Given the description of an element on the screen output the (x, y) to click on. 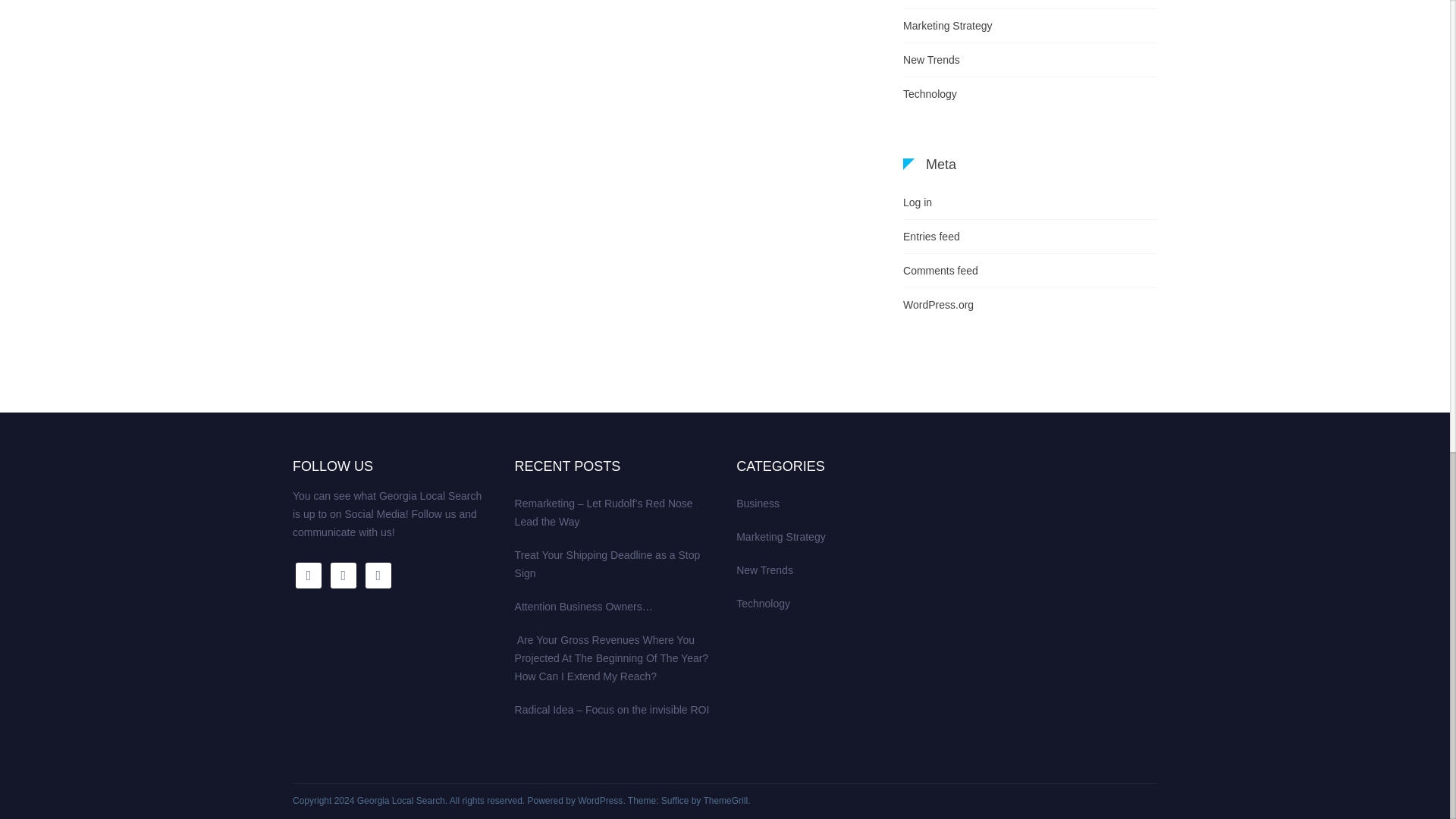
Default Label (378, 575)
Georgia Local Search (400, 800)
Instagram (343, 575)
Facebook (308, 575)
WordPress (600, 800)
ThemeGrill (725, 800)
